Given the description of an element on the screen output the (x, y) to click on. 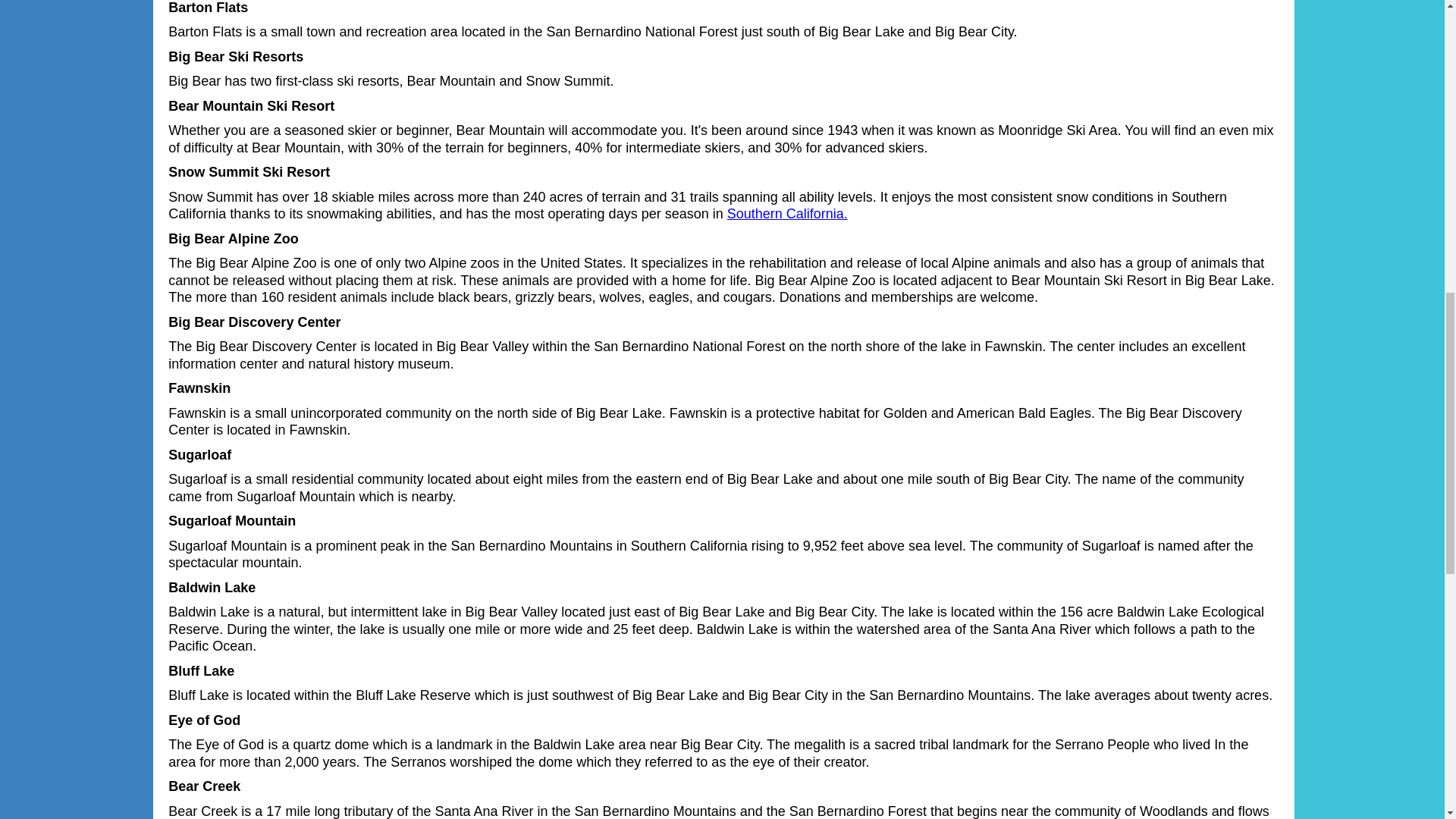
Southern California. (786, 213)
